Given the description of an element on the screen output the (x, y) to click on. 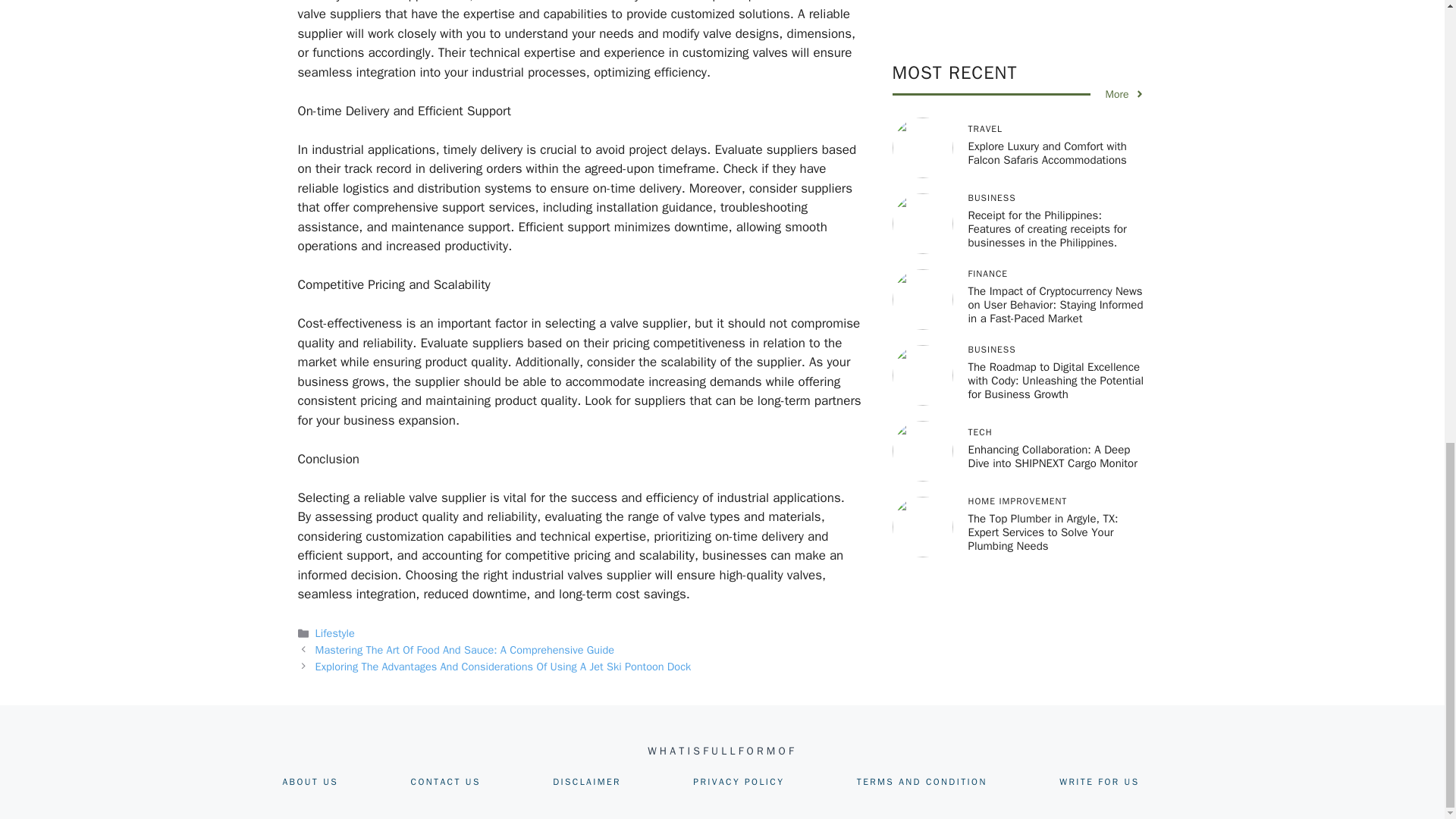
Lifestyle (335, 632)
Mastering The Art Of Food And Sauce: A Comprehensive Guide (464, 649)
